Given the description of an element on the screen output the (x, y) to click on. 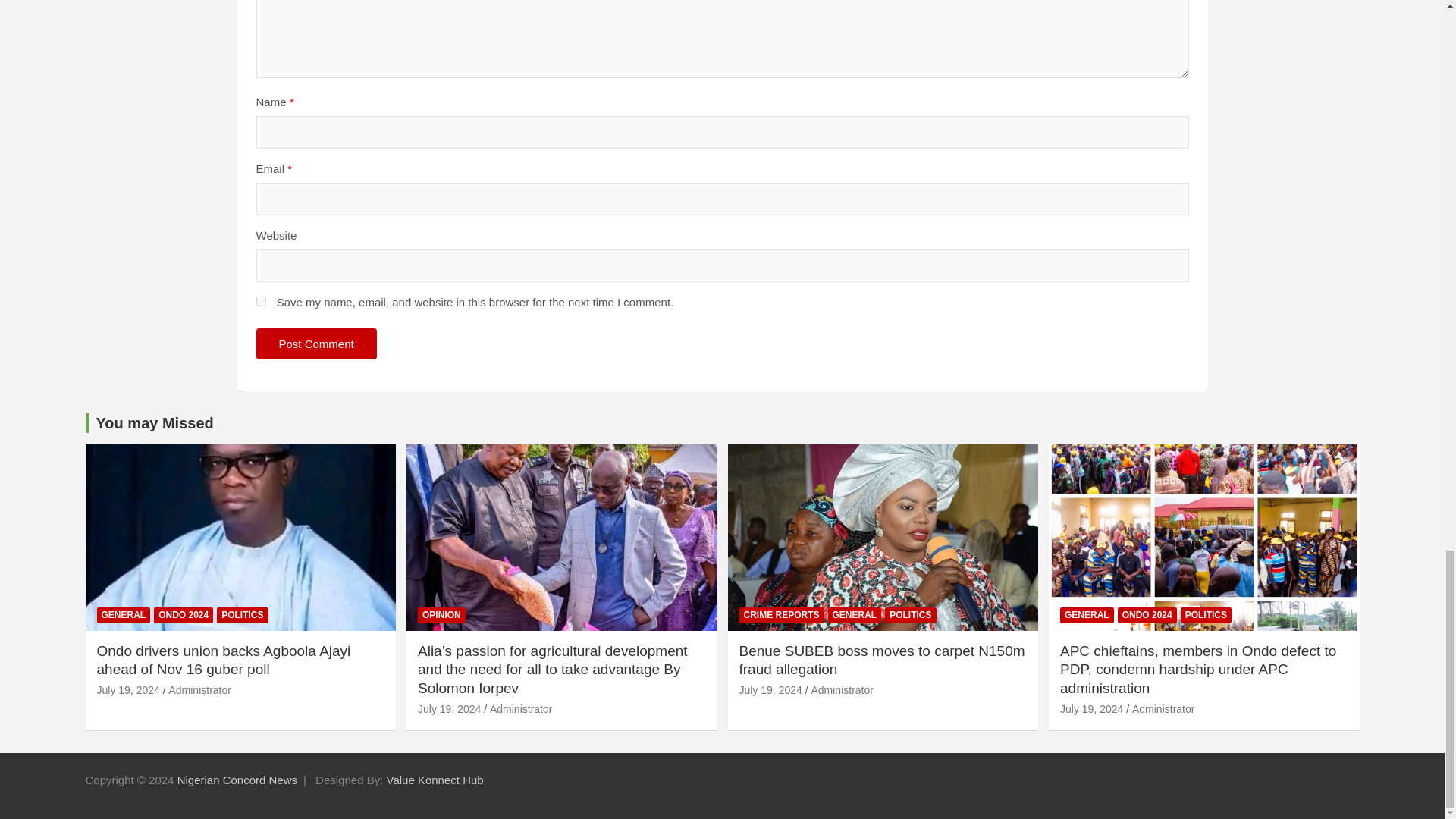
Administrator (520, 708)
Post Comment (316, 343)
Benue SUBEB boss moves to carpet N150m fraud allegation (770, 689)
GENERAL (124, 615)
yes (261, 301)
POLITICS (241, 615)
OPINION (441, 615)
July 19, 2024 (448, 708)
Administrator (199, 689)
July 19, 2024 (128, 689)
Nigerian Concord News (237, 779)
Post Comment (316, 343)
